Given the description of an element on the screen output the (x, y) to click on. 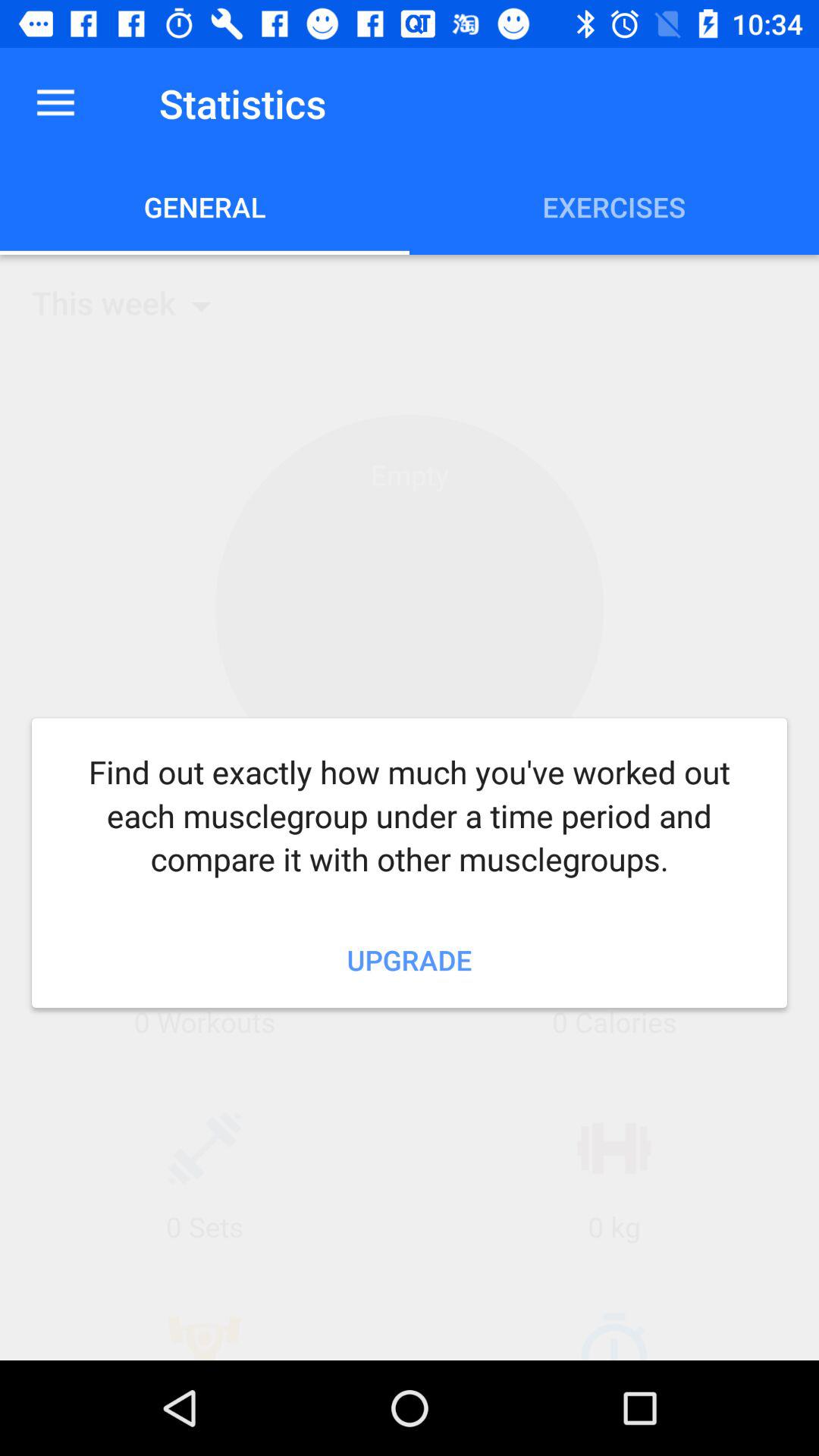
turn on icon to the left of the statistics (55, 103)
